Given the description of an element on the screen output the (x, y) to click on. 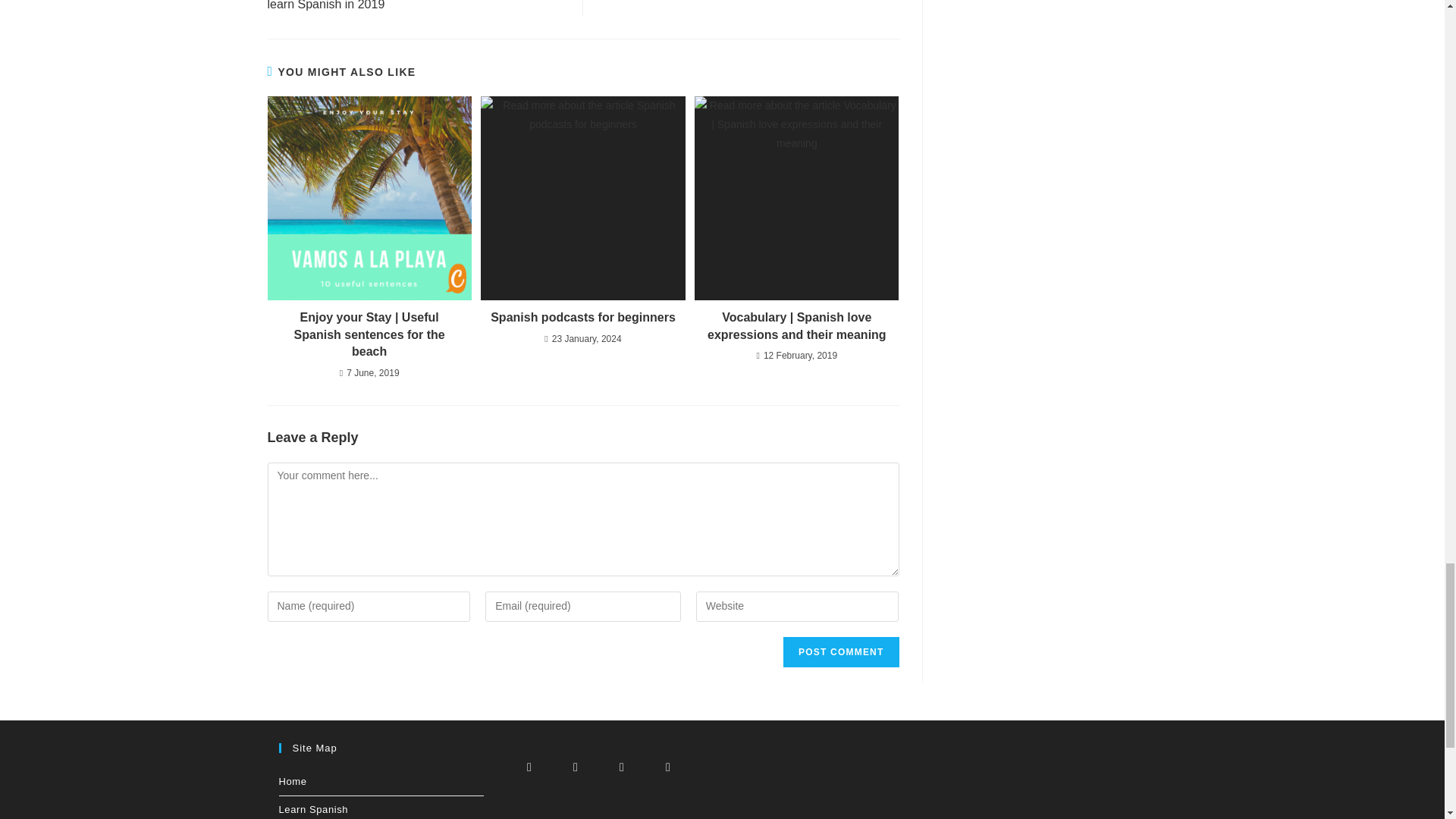
Post Comment (840, 652)
Post Comment (840, 652)
Spanish podcasts for beginners (582, 317)
